Given the description of an element on the screen output the (x, y) to click on. 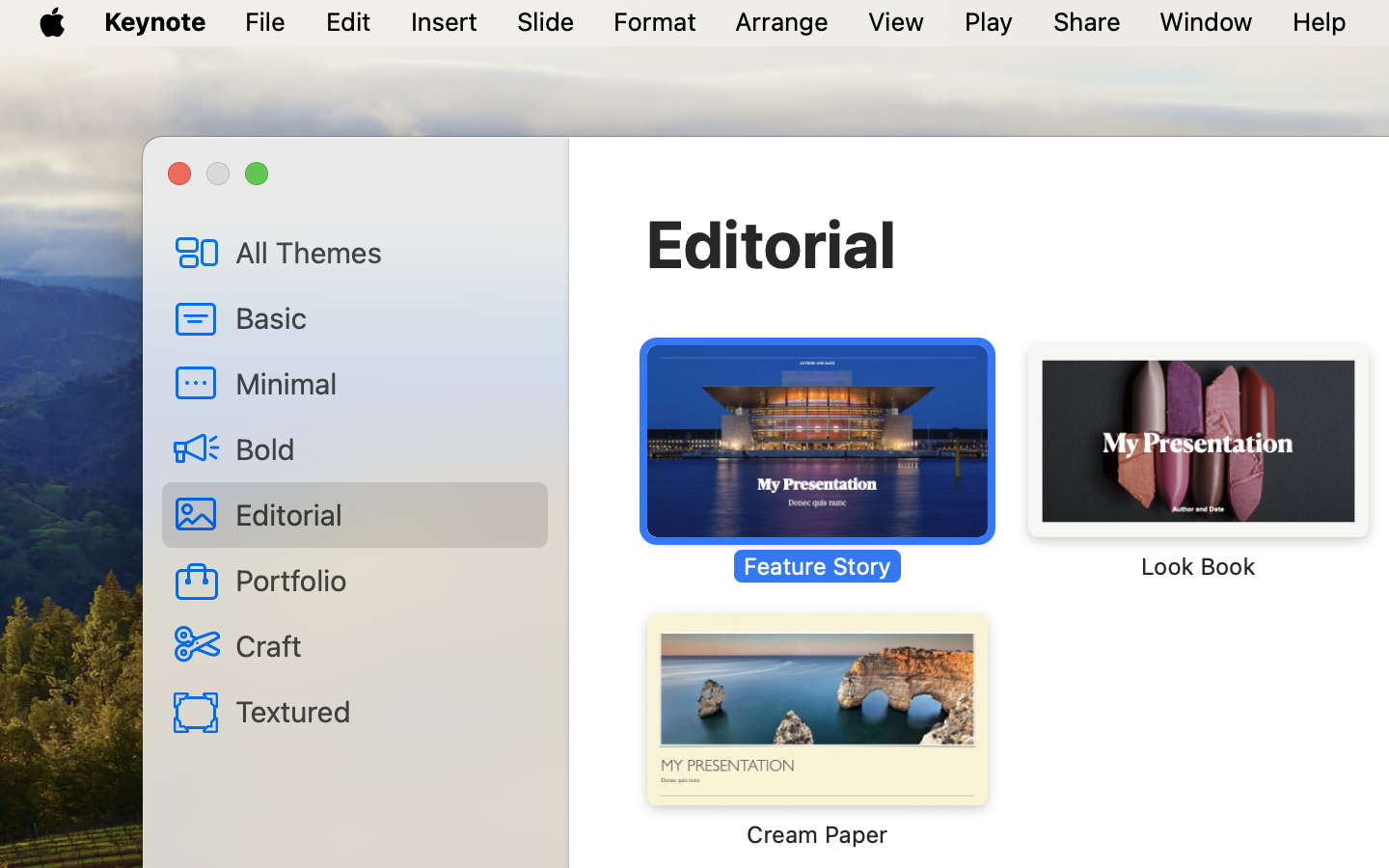
‎⁨Feature Story⁩ Element type: AXButton (816, 462)
